Given the description of an element on the screen output the (x, y) to click on. 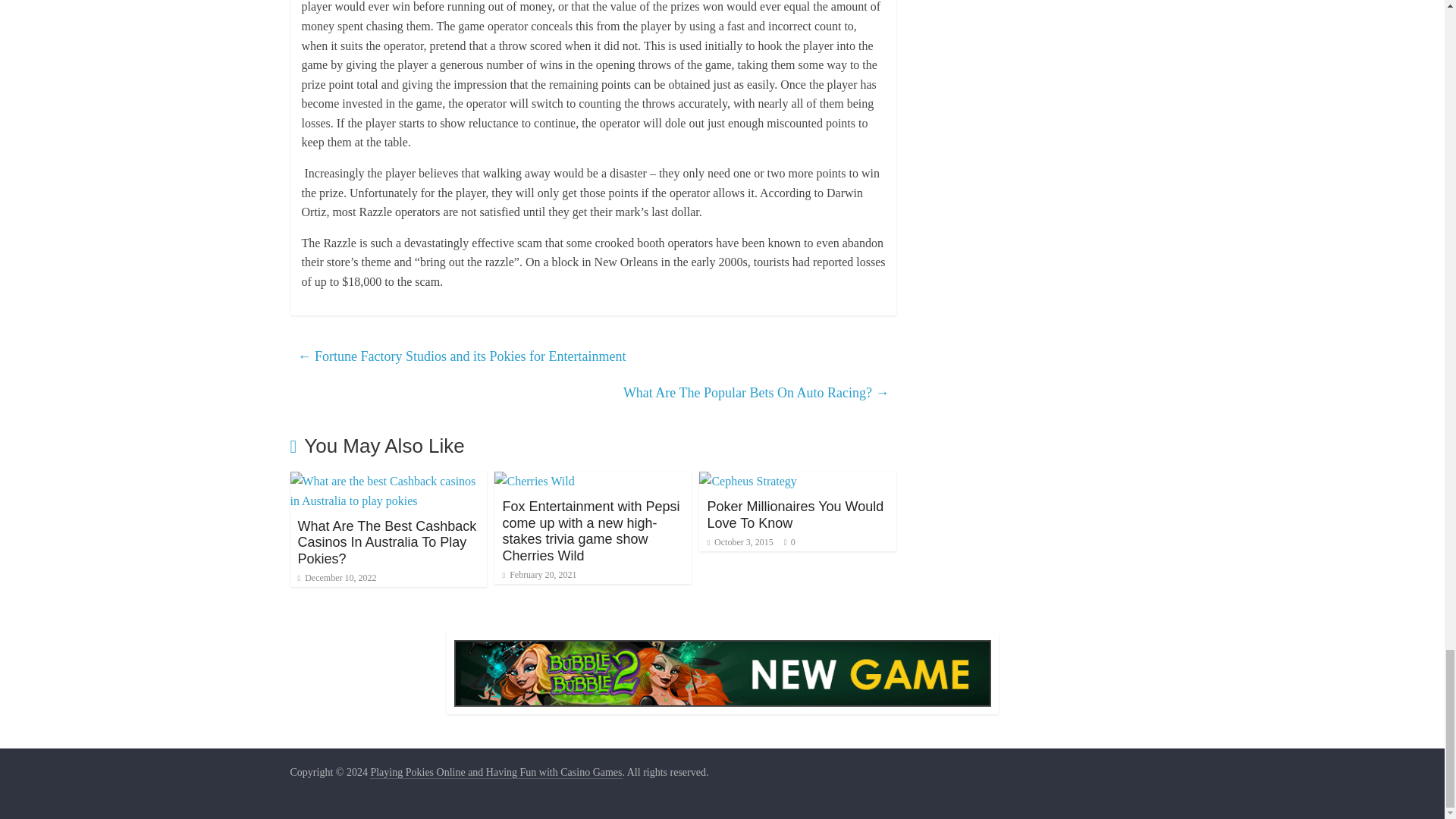
11:52 am (336, 577)
Poker Millionaires You Would Love To Know (794, 514)
October 3, 2015 (739, 542)
9:34 am (539, 574)
February 20, 2021 (539, 574)
